Given the description of an element on the screen output the (x, y) to click on. 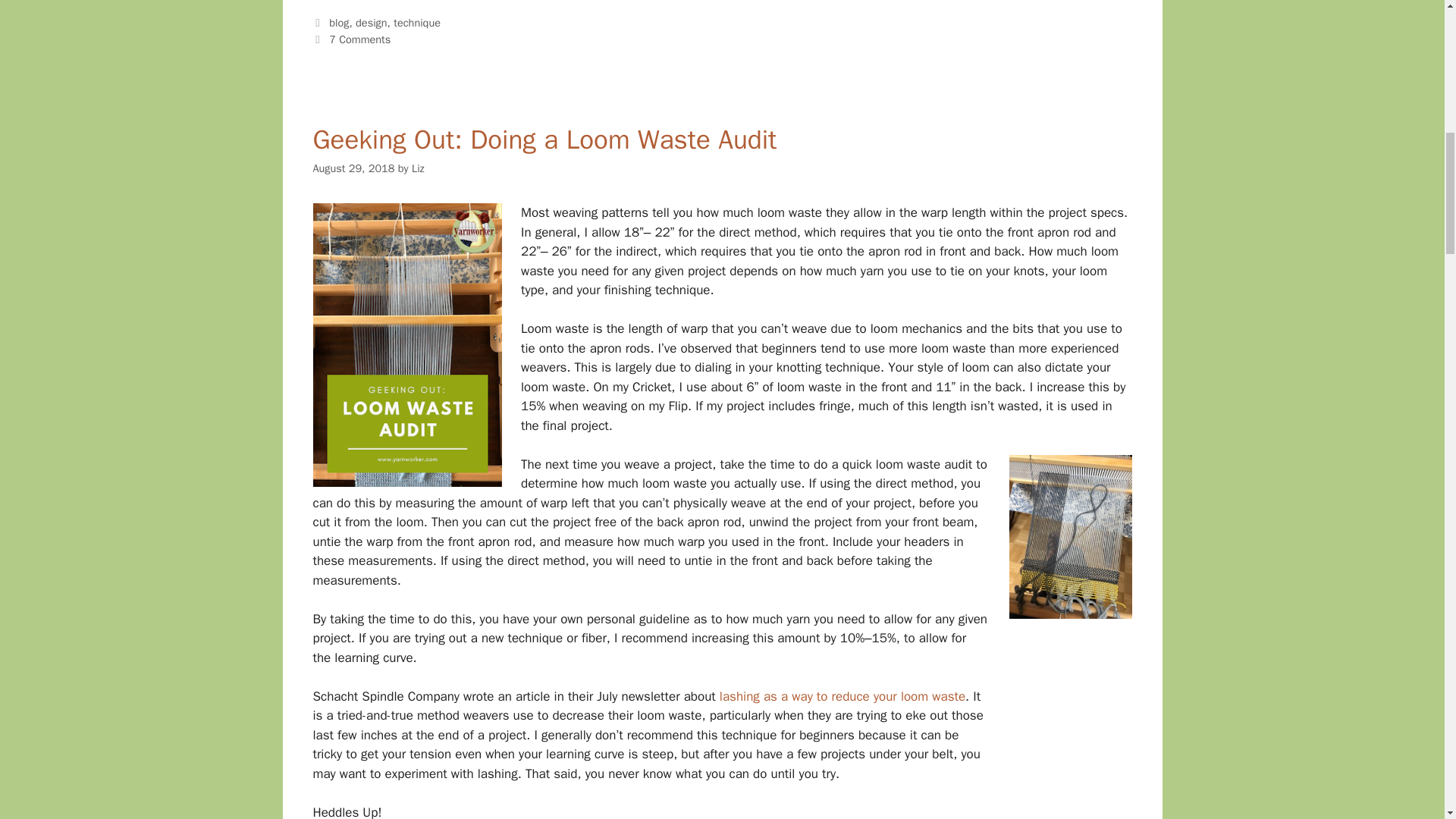
View all posts by Liz (418, 168)
